Given the description of an element on the screen output the (x, y) to click on. 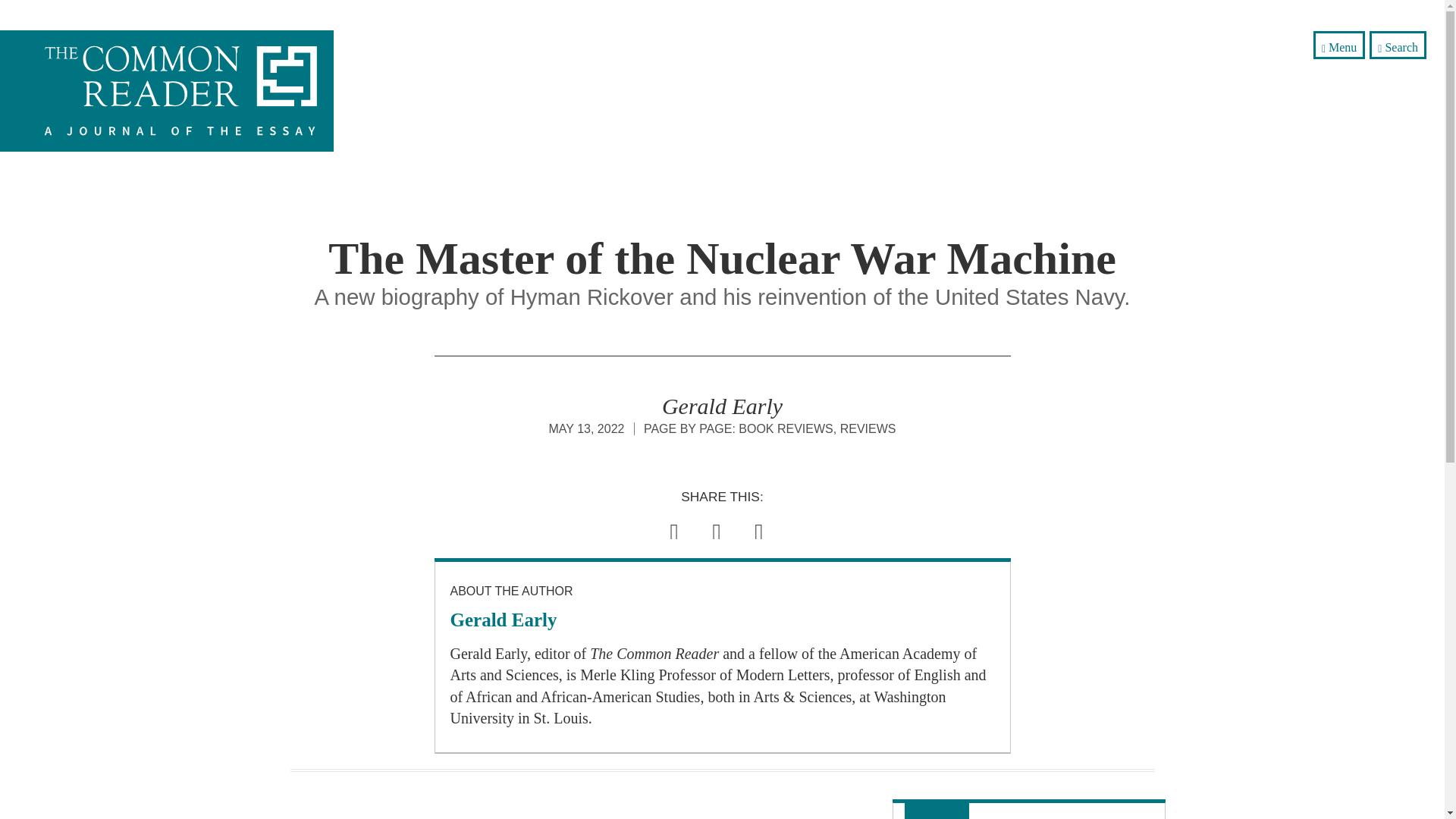
Click to share on Facebook (715, 526)
Gerald Early (722, 405)
Search (1398, 44)
Click to share on Twitter (673, 526)
Common Reader (189, 90)
PAGE BY PAGE: BOOK REVIEWS (737, 428)
Click to print (758, 526)
REVIEWS (868, 428)
Menu (1339, 44)
Gerald Early (503, 619)
